Given the description of an element on the screen output the (x, y) to click on. 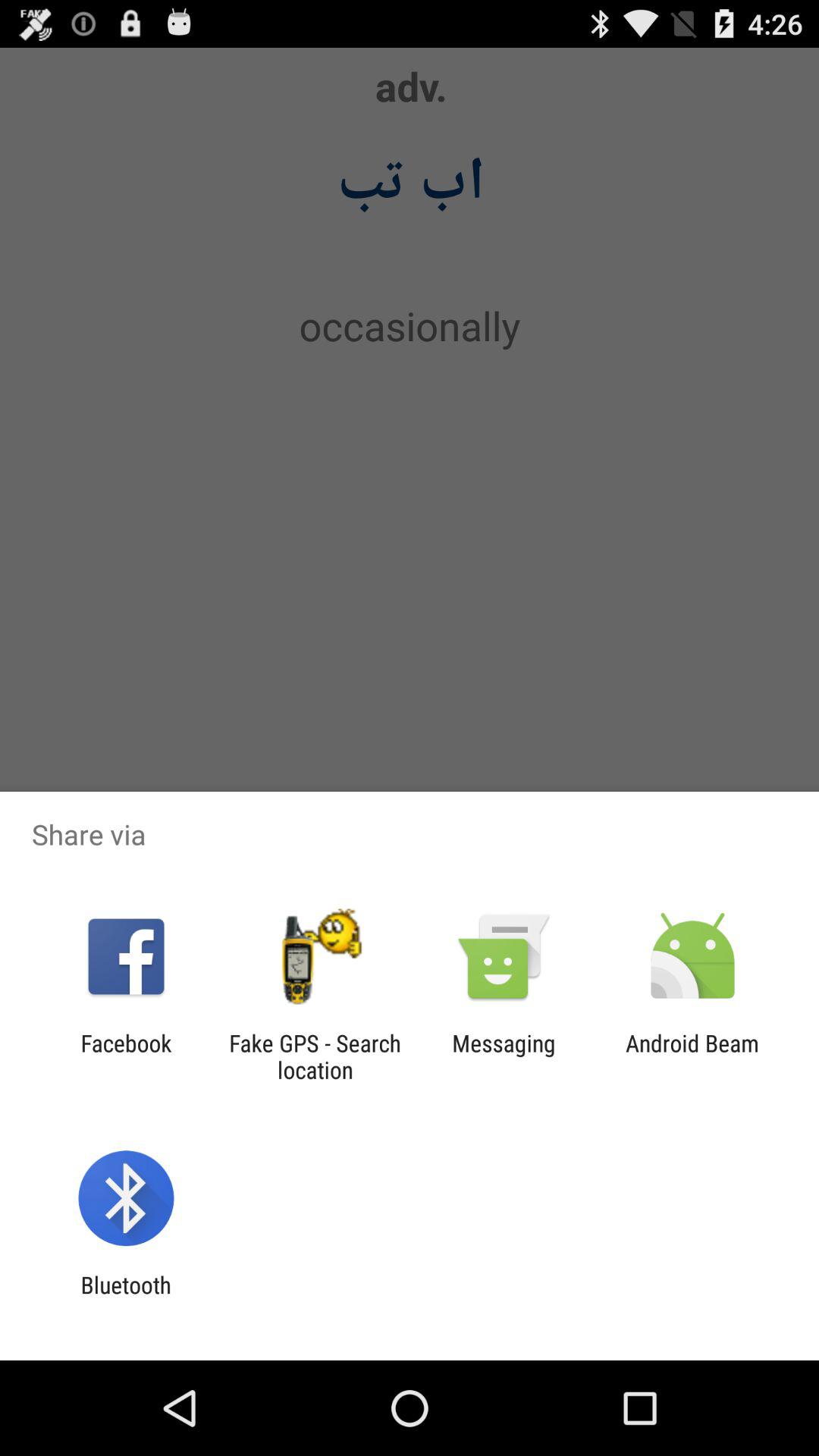
launch the android beam (692, 1056)
